Given the description of an element on the screen output the (x, y) to click on. 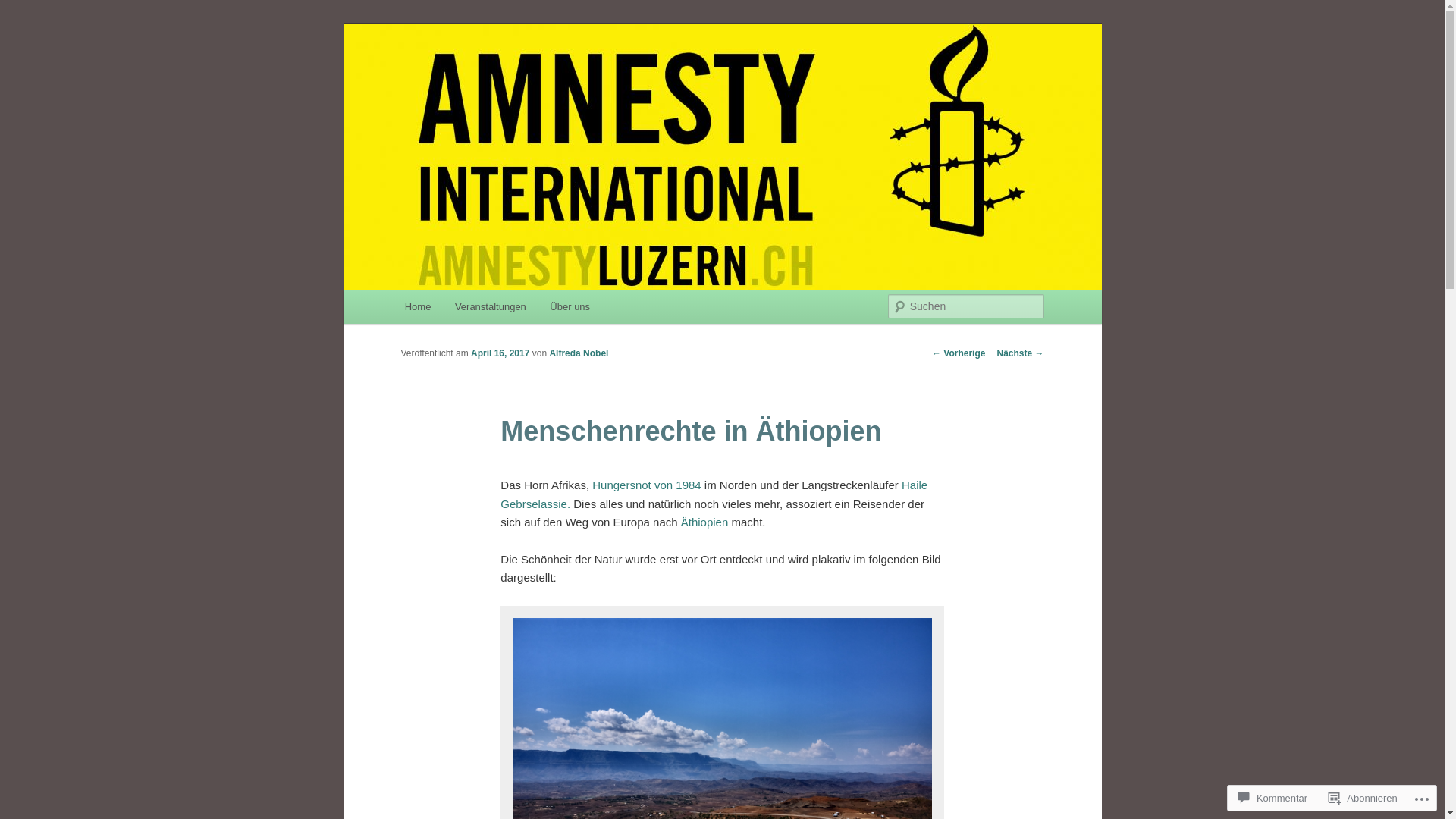
Amnesty International Lokalgruppe Luzern Element type: text (631, 78)
Zum Inhalt wechseln Element type: text (22, 22)
Haile Gebrselassie. Element type: text (713, 493)
Alfreda Nobel Element type: text (578, 353)
Kommentar Element type: text (1272, 797)
Abonnieren Element type: text (1362, 797)
Hungersnot von 1984 Element type: text (646, 484)
Veranstaltungen Element type: text (489, 306)
Home Element type: text (417, 306)
April 16, 2017 Element type: text (499, 353)
Suchen Element type: text (25, 8)
